Given the description of an element on the screen output the (x, y) to click on. 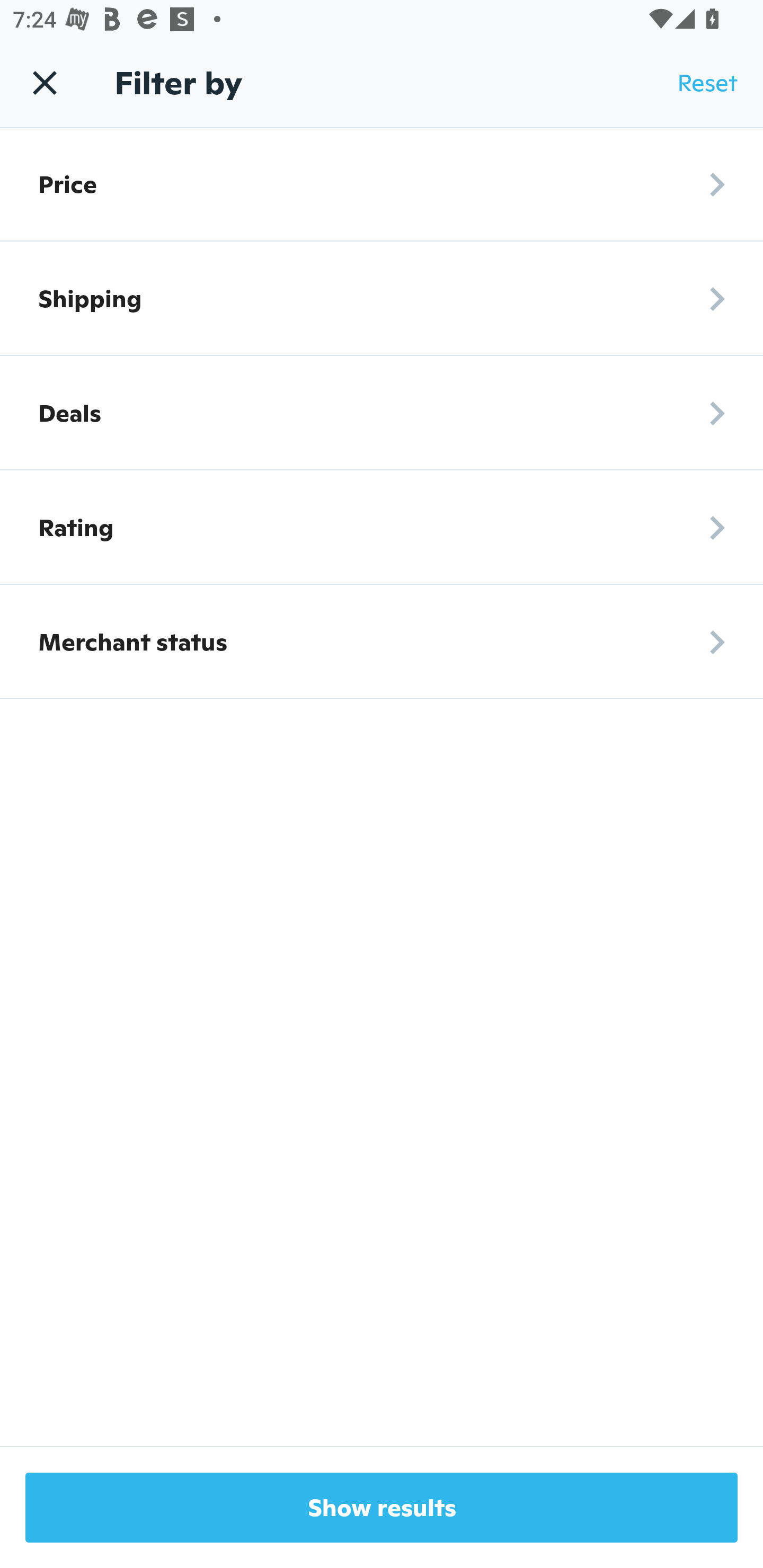
Navigate up (44, 82)
Reset (707, 82)
Price (381, 184)
Shipping (381, 298)
Deals (381, 412)
Rating (381, 527)
Merchant status (381, 641)
Show results (381, 1507)
